Given the description of an element on the screen output the (x, y) to click on. 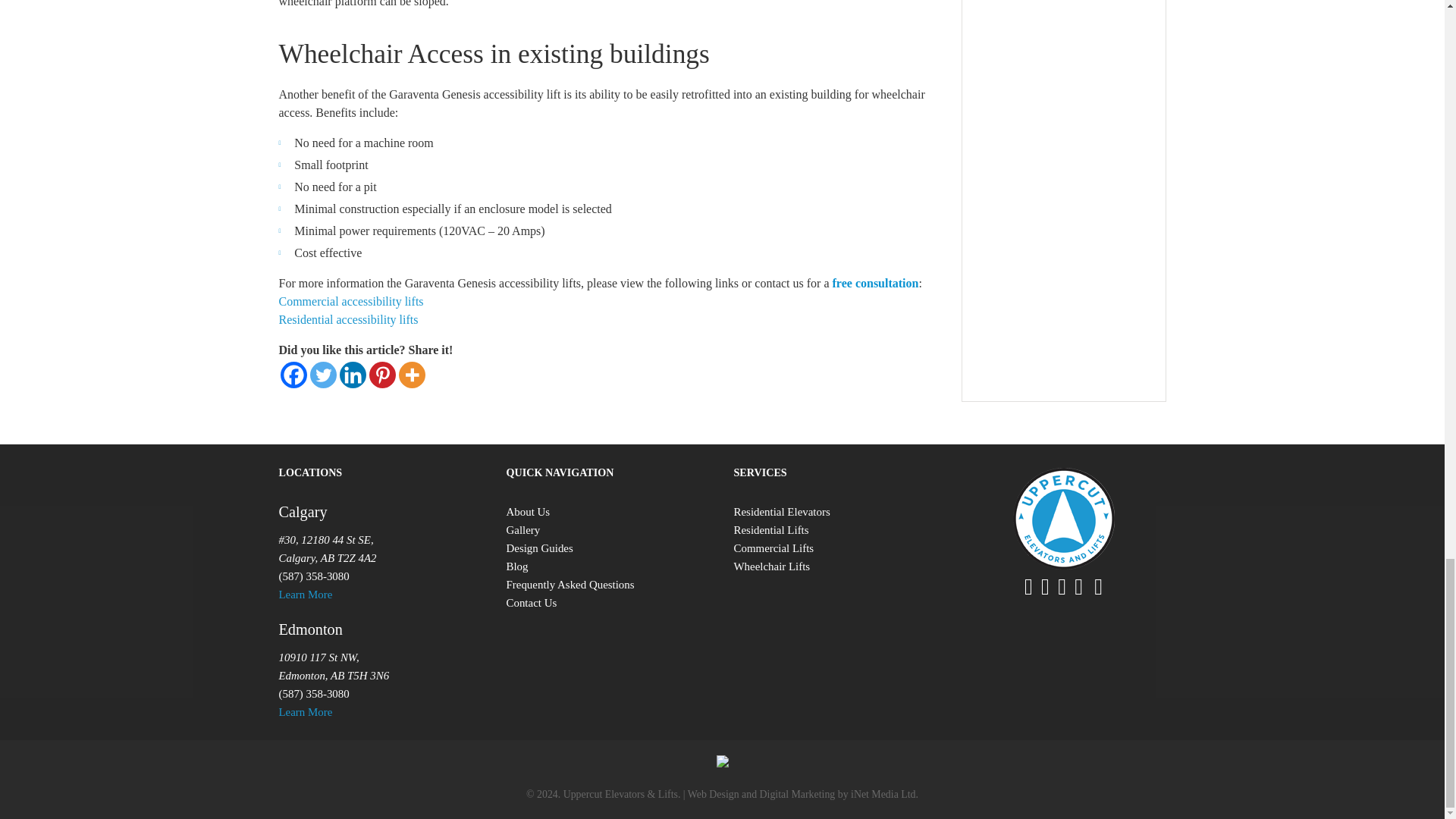
Pinterest (381, 374)
Linkedin (352, 374)
Facebook (294, 374)
More (411, 374)
Twitter (322, 374)
